Given the description of an element on the screen output the (x, y) to click on. 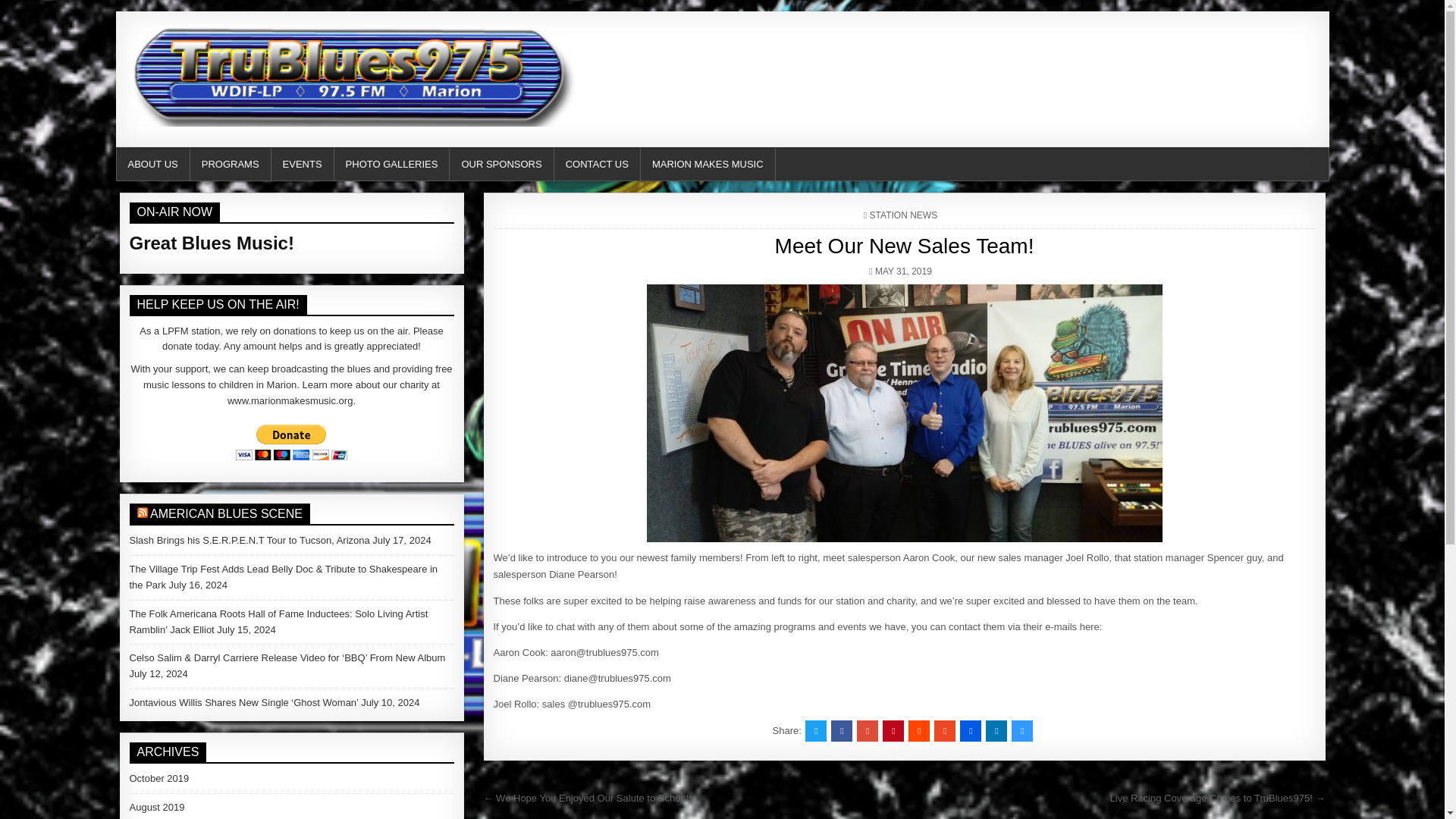
MARION MAKES MUSIC (708, 164)
Share this on Delicious (1021, 731)
Slash Brings his S.E.R.P.E.N.T Tour to Tucson, Arizona (249, 540)
Share this on Facebook (841, 731)
www.marionmakesmusic.org (289, 400)
CONTACT US (597, 164)
EVENTS (302, 164)
Share this on Pinterest (893, 731)
PayPal - The safer, easier way to pay online! (291, 442)
PROGRAMS (230, 164)
Tweet This! (816, 731)
OUR SPONSORS (501, 164)
STATION NEWS (903, 214)
Share this on Digg (970, 731)
